Given the description of an element on the screen output the (x, y) to click on. 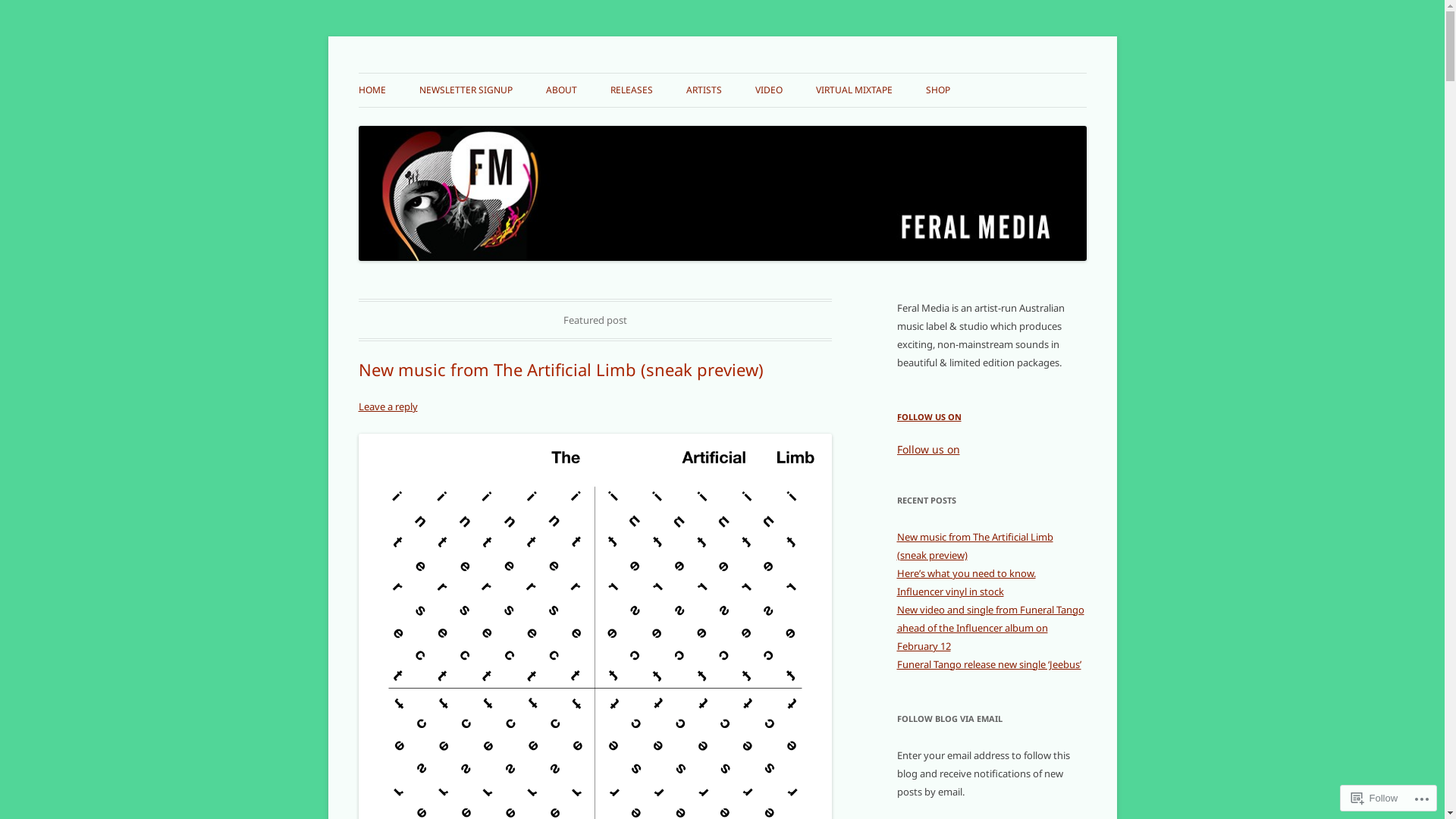
NEWSLETTER SIGNUP Element type: text (464, 89)
New music from The Artificial Limb (sneak preview) Element type: text (559, 368)
New music from The Artificial Limb (sneak preview) Element type: text (974, 545)
SHOP Element type: text (937, 89)
Follow us on Element type: text (927, 449)
Influencer vinyl in stock Element type: text (949, 591)
Leave a reply Element type: text (387, 406)
ABOUT Element type: text (561, 89)
Follow Element type: text (1374, 797)
RELEASES Element type: text (630, 89)
HOME Element type: text (371, 89)
ARTISTS Element type: text (703, 89)
Feral Media Element type: text (414, 72)
VIRTUAL MIXTAPE Element type: text (853, 89)
FOLLOW US ON Element type: text (928, 416)
Skip to content Element type: text (721, 72)
VIDEO Element type: text (768, 89)
